Given the description of an element on the screen output the (x, y) to click on. 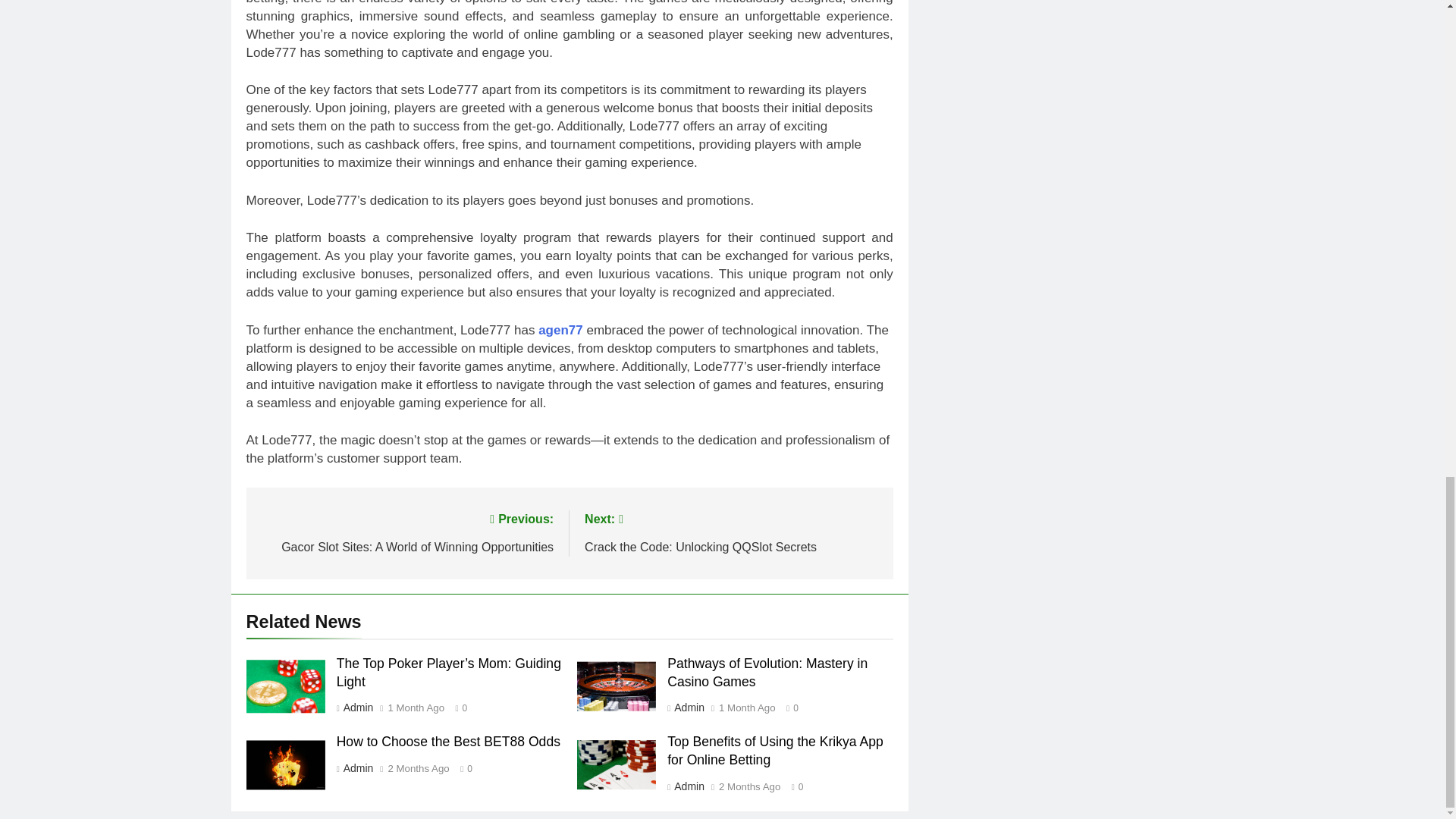
How to Choose the Best BET88 Odds (448, 741)
2 Months Ago (749, 787)
0 (457, 707)
1 Month Ago (415, 707)
2 Months Ago (731, 531)
Admin (417, 768)
0 (357, 767)
1 Month Ago (787, 707)
Admin (747, 707)
